Given the description of an element on the screen output the (x, y) to click on. 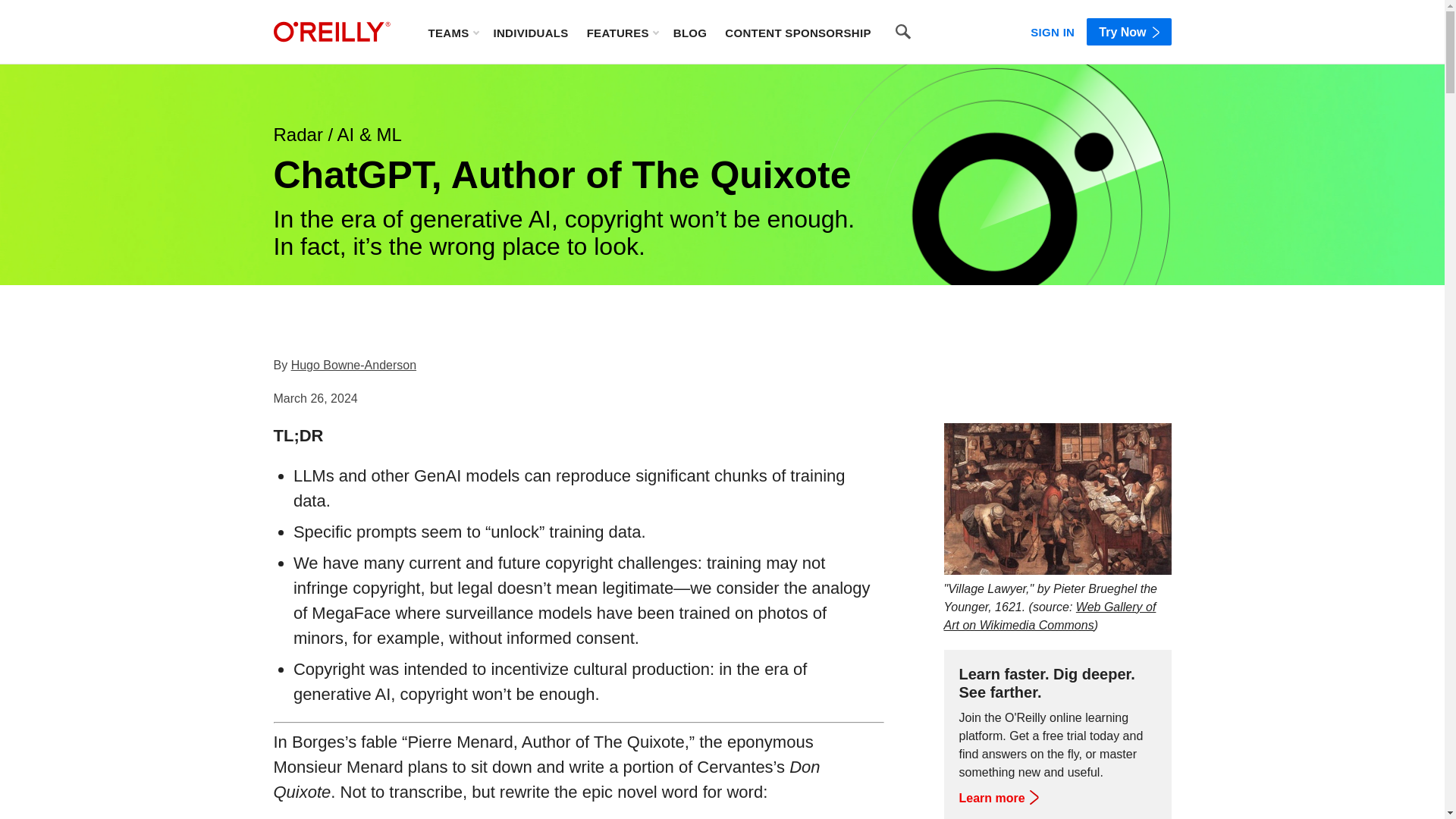
TEAMS (452, 31)
Try Now (1128, 31)
CONTENT SPONSORSHIP (797, 31)
Web Gallery of Art on Wikimedia Commons (1049, 615)
Radar (297, 134)
BLOG (689, 31)
FEATURES (622, 31)
Hugo Bowne-Anderson (353, 364)
home page (331, 31)
Learn more (997, 797)
SIGN IN (1052, 29)
Search (903, 31)
INDIVIDUALS (530, 31)
